Given the description of an element on the screen output the (x, y) to click on. 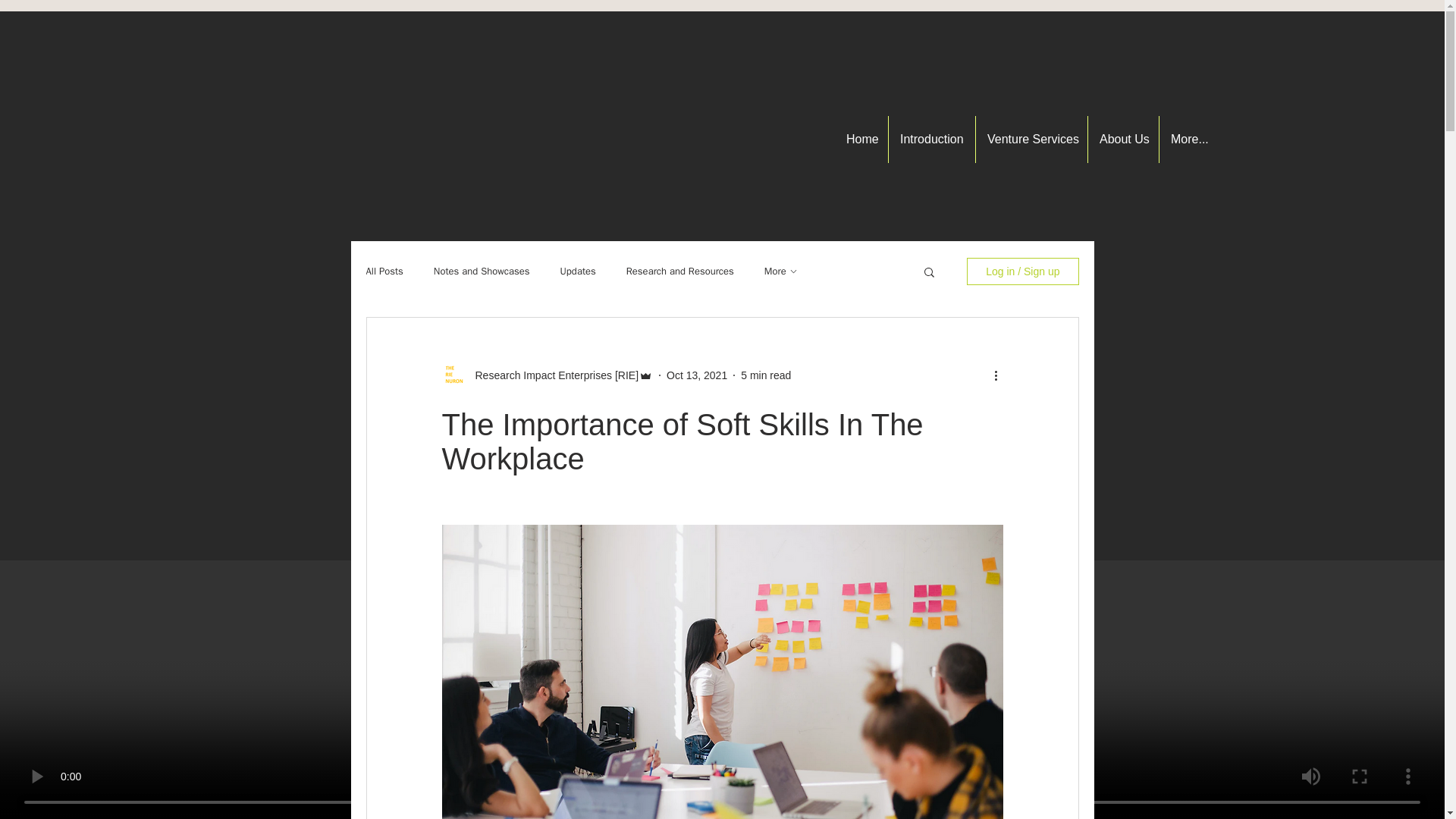
Home (861, 139)
Introduction (931, 139)
Venture Services (1031, 139)
Impact (1005, 346)
Updates (577, 271)
Enterprises (1005, 364)
5 min read (765, 374)
All Posts (384, 271)
Notes and Showcases (481, 271)
Research (1006, 328)
Oct 13, 2021 (696, 374)
Research and Resources (679, 271)
About Us (1122, 139)
